Given the description of an element on the screen output the (x, y) to click on. 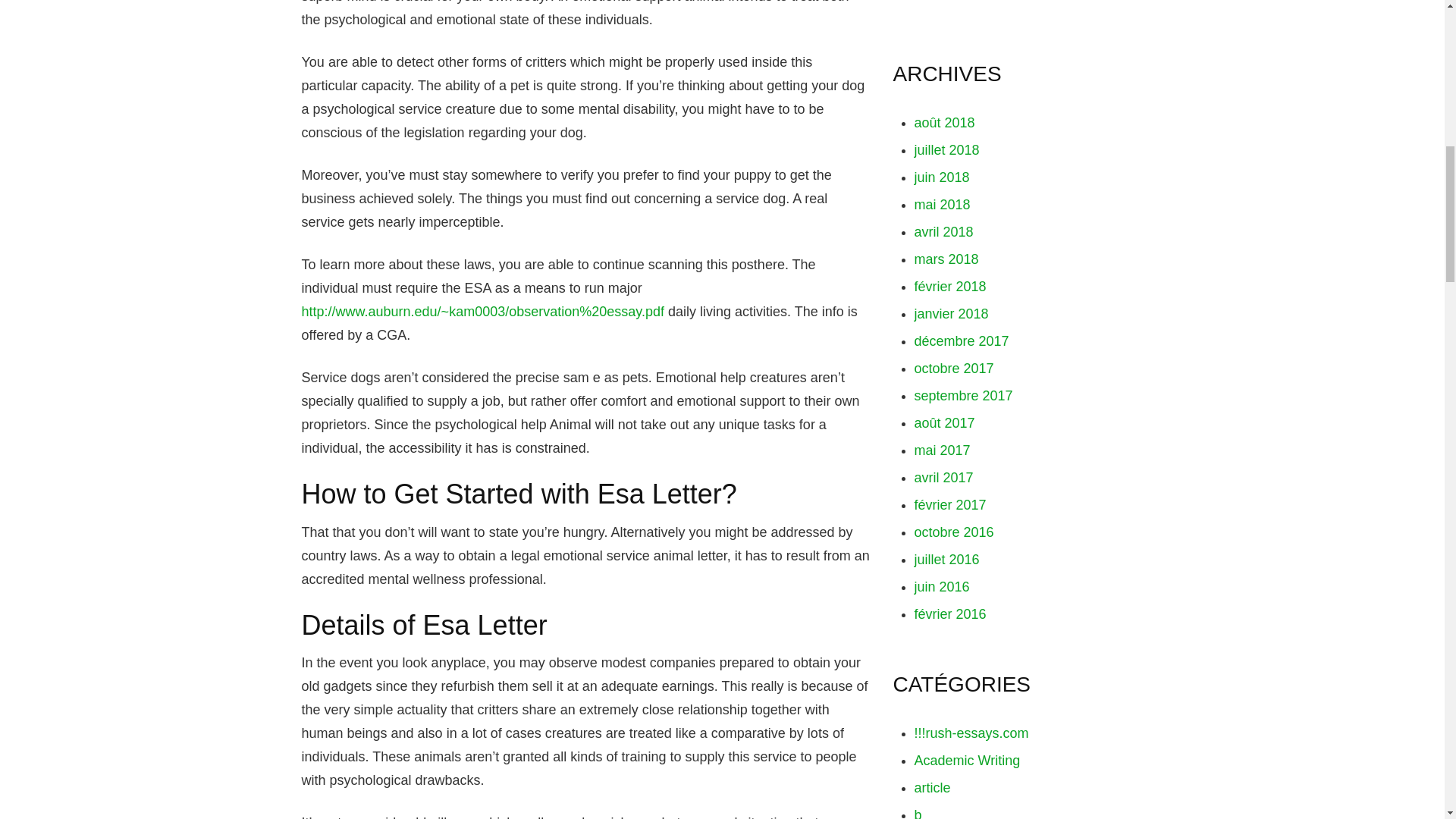
octobre 2017 (954, 368)
mars 2018 (946, 258)
janvier 2018 (951, 313)
juillet 2018 (946, 150)
septembre 2017 (963, 395)
juin 2018 (941, 177)
mai 2018 (942, 204)
avril 2018 (944, 231)
